Given the description of an element on the screen output the (x, y) to click on. 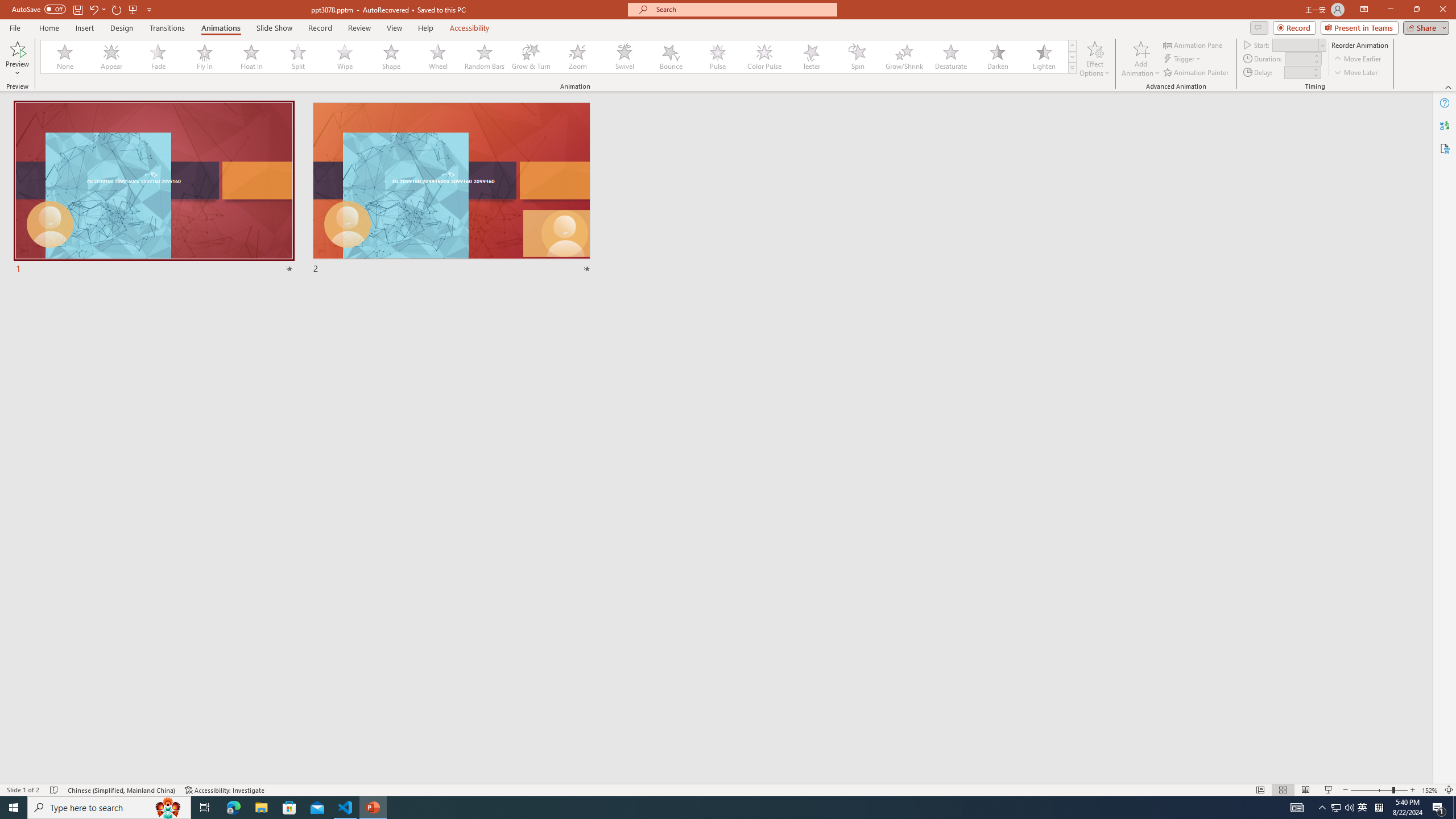
Fly In (205, 56)
Spin (857, 56)
Darken (997, 56)
Animation Delay (1297, 72)
